Given the description of an element on the screen output the (x, y) to click on. 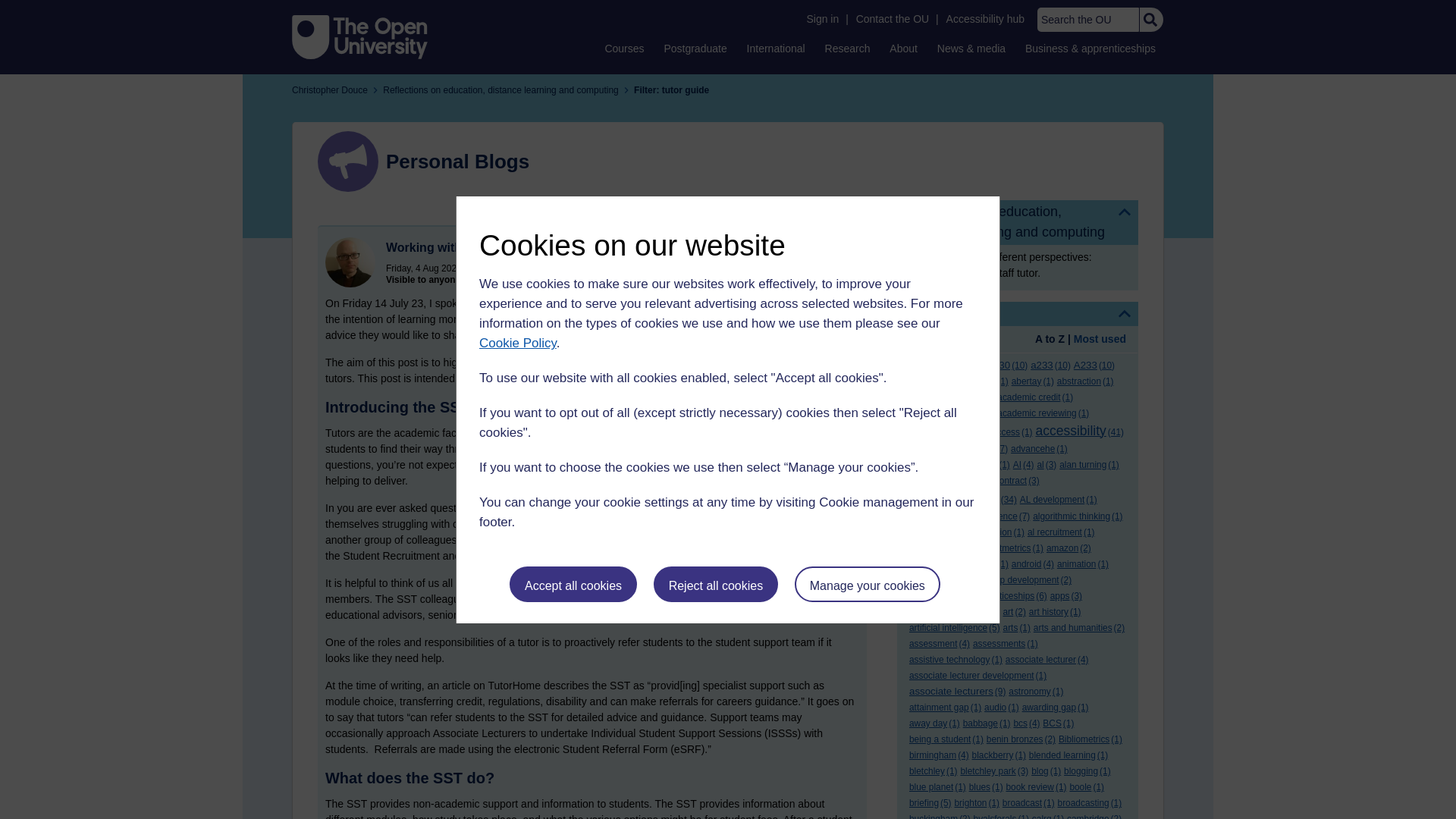
Reject all cookies (715, 583)
International (775, 48)
Tags (1017, 313)
Courses (623, 48)
Accept all cookies (573, 583)
Search (1149, 19)
Cookie Policy (517, 342)
About (903, 48)
Sign in (822, 19)
